Given the description of an element on the screen output the (x, y) to click on. 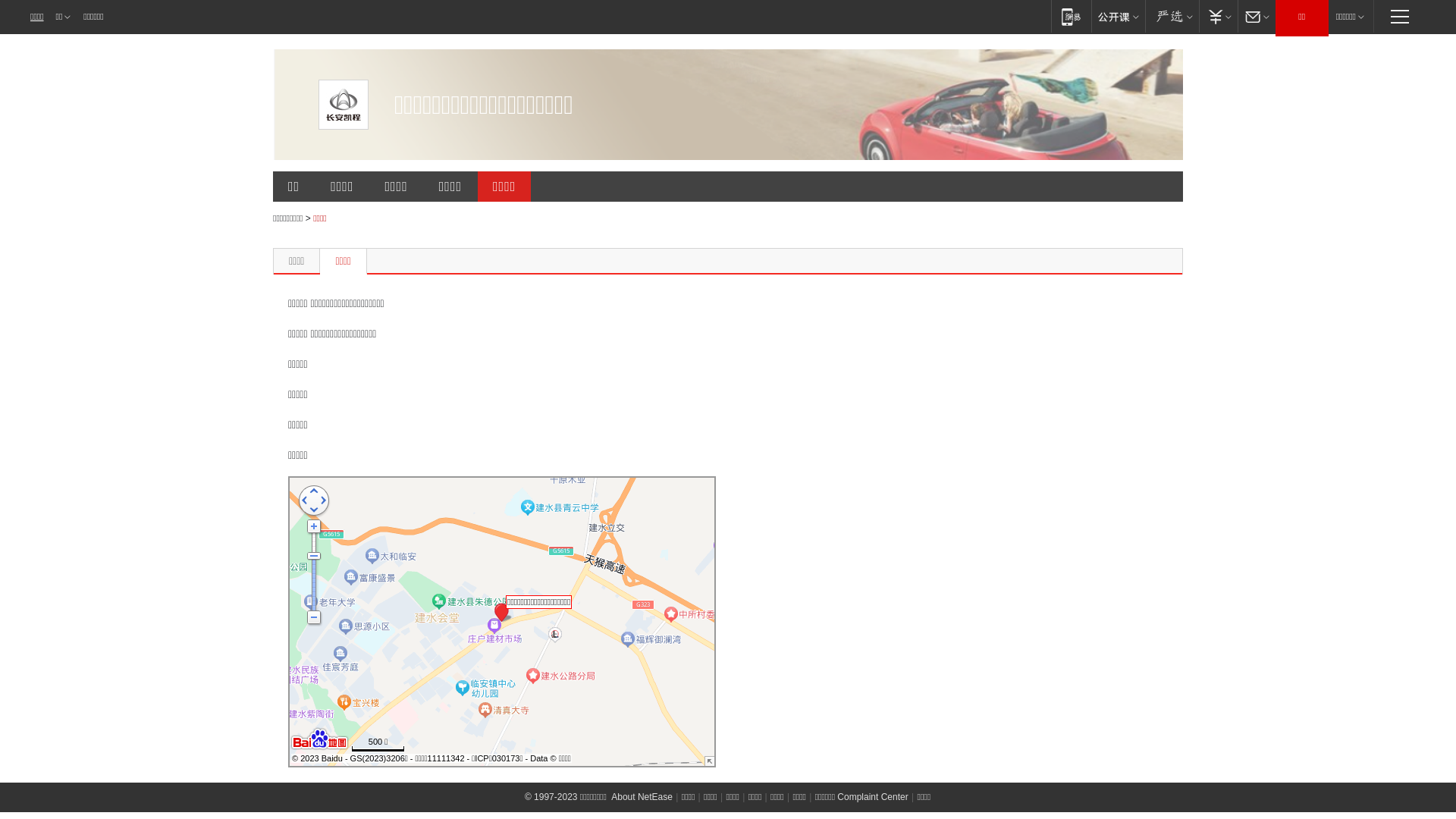
About NetEase Element type: text (641, 796)
